Given the description of an element on the screen output the (x, y) to click on. 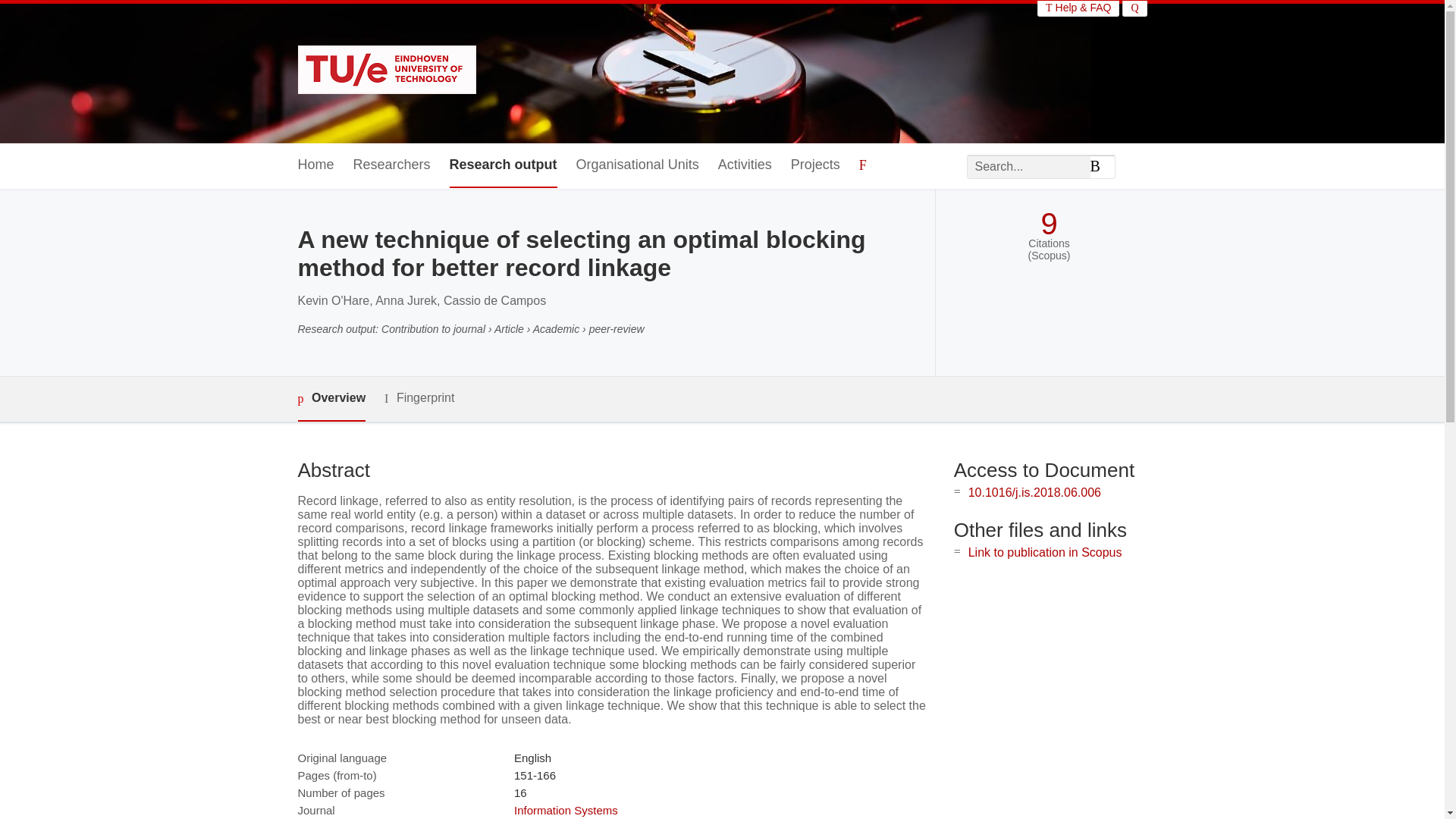
Researchers (391, 165)
Fingerprint (419, 398)
Activities (744, 165)
Eindhoven University of Technology research portal Home (386, 71)
Research output (503, 165)
Projects (815, 165)
Information Systems (565, 809)
Link to publication in Scopus (1045, 552)
Organisational Units (637, 165)
